Given the description of an element on the screen output the (x, y) to click on. 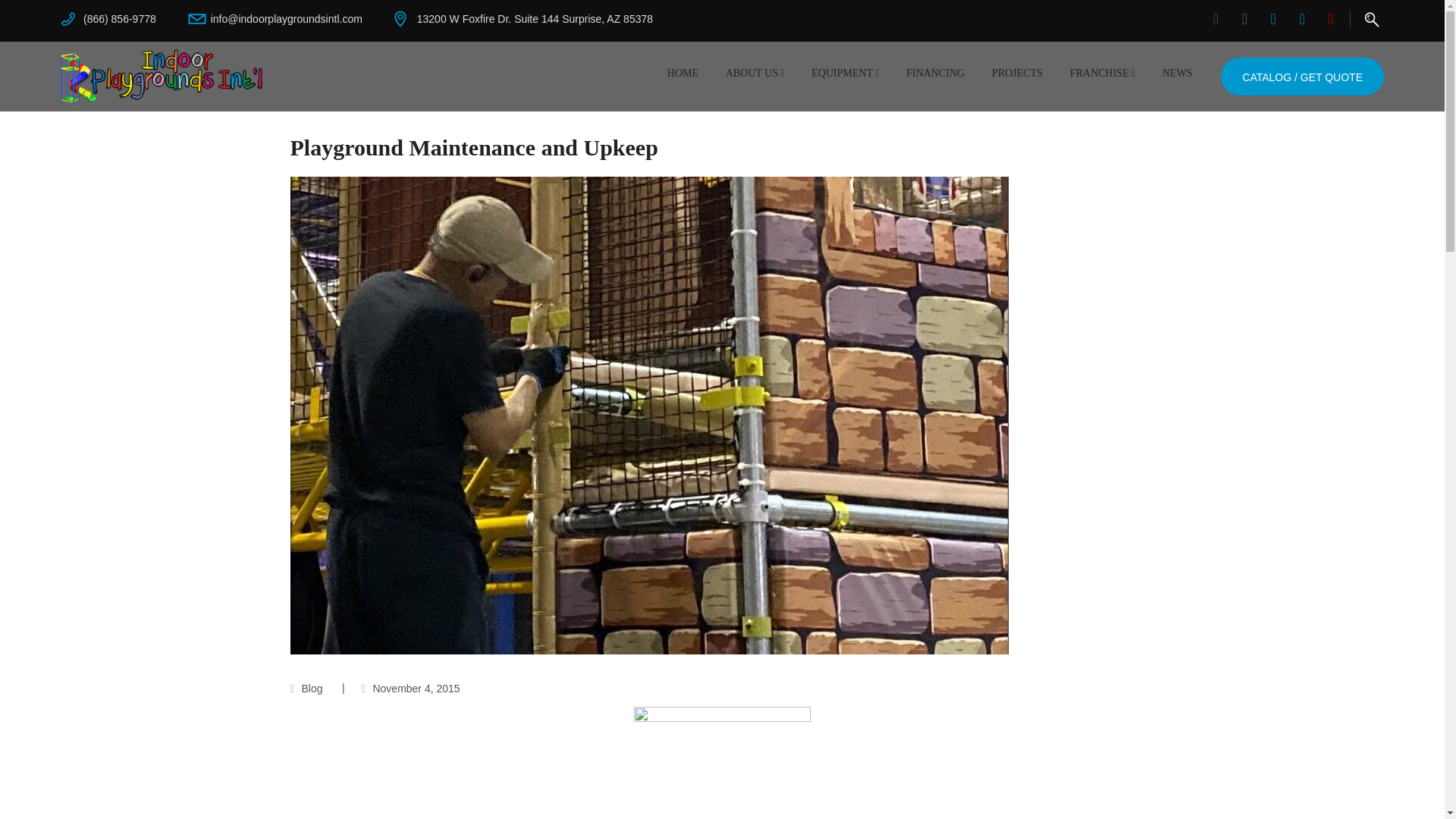
FRANCHISE (1102, 73)
FINANCING (934, 73)
PROJECTS (1016, 73)
EQUIPMENT (845, 73)
ABOUT US (754, 73)
